Given the description of an element on the screen output the (x, y) to click on. 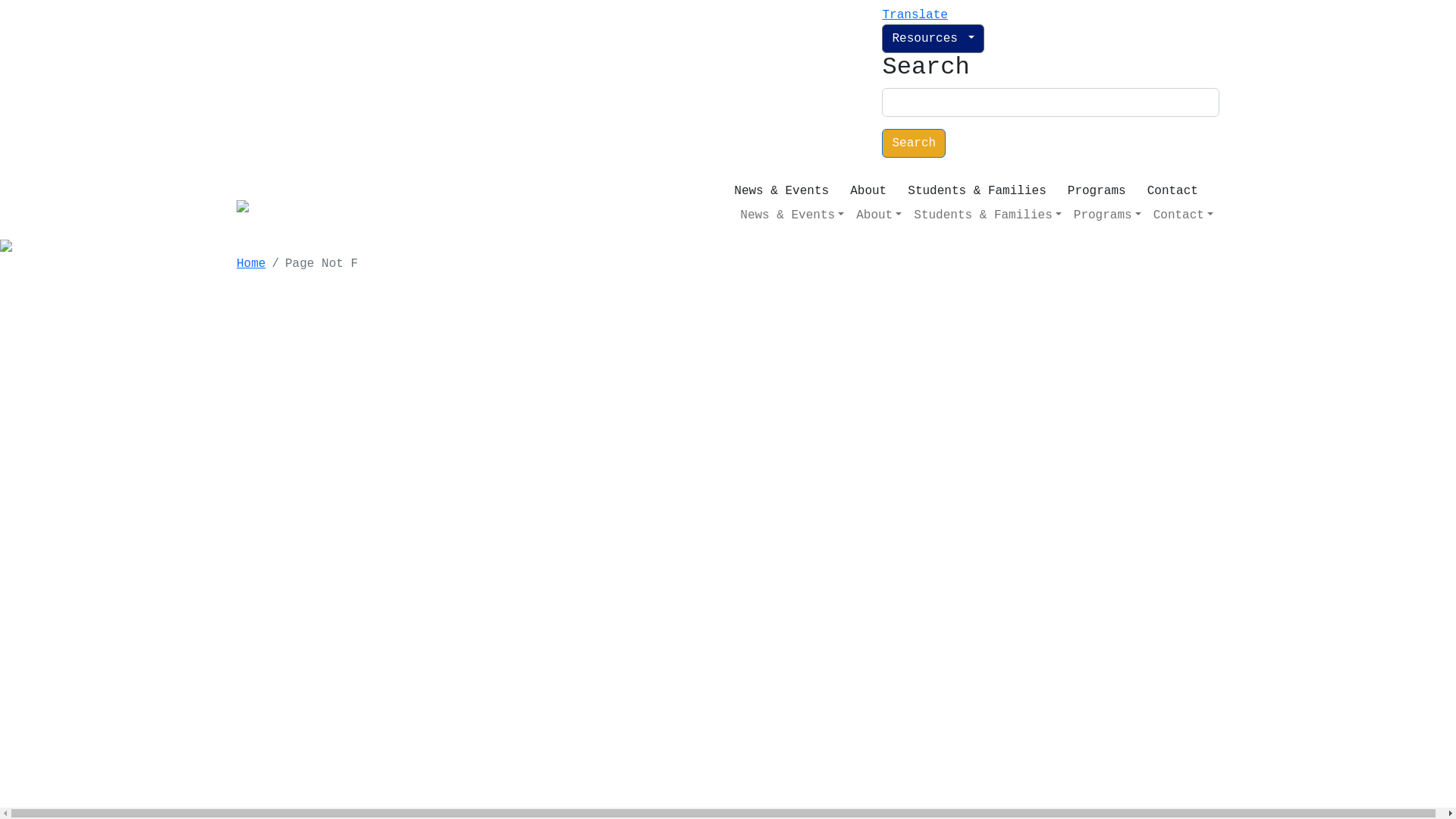
Resources Element type: text (932, 38)
Search Element type: text (913, 142)
Home Element type: text (250, 263)
Translate Element type: text (914, 14)
Enter the terms you wish to search for. Element type: hover (1050, 101)
